Given the description of an element on the screen output the (x, y) to click on. 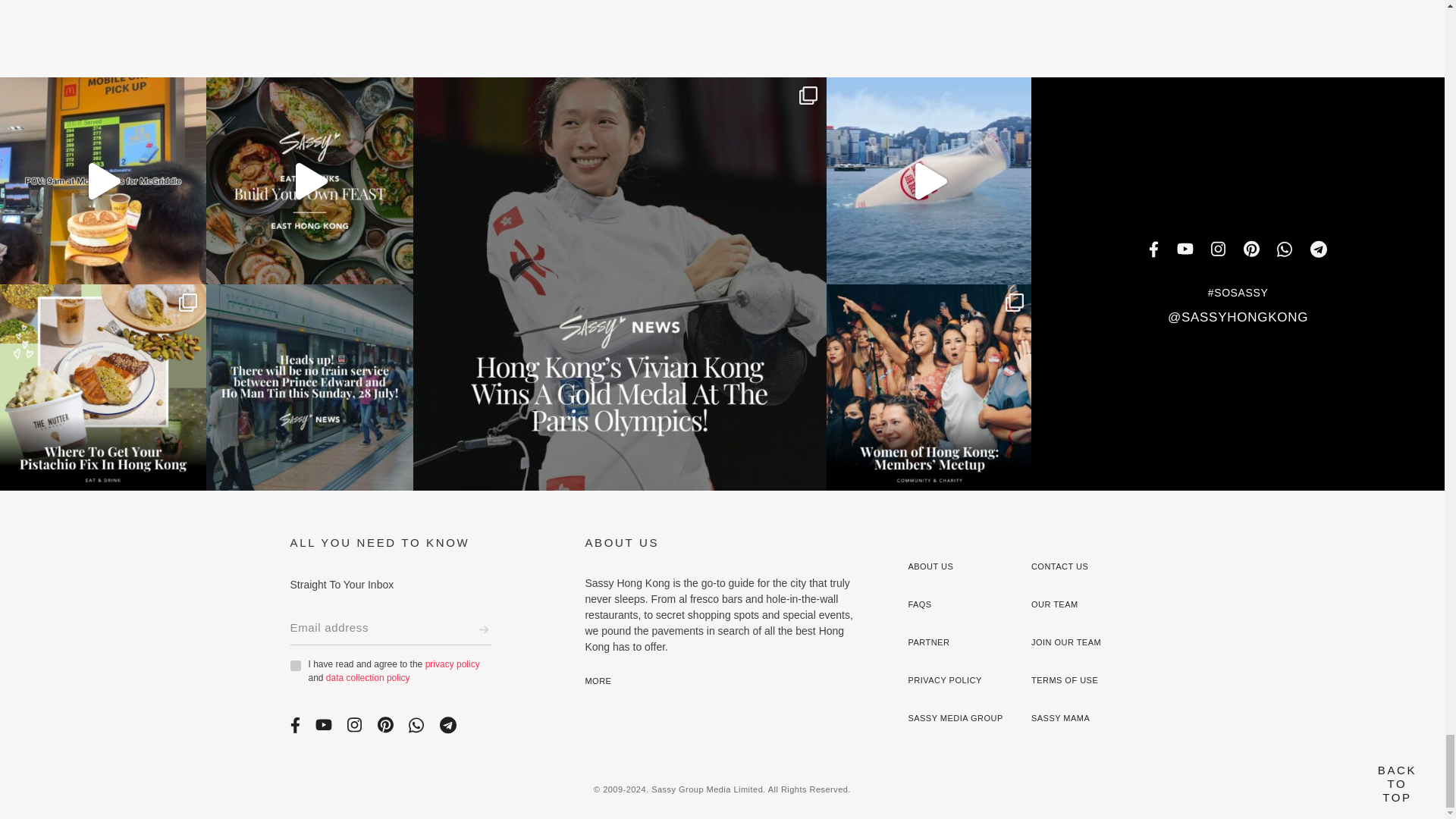
Sign Up (483, 629)
on (294, 665)
